Given the description of an element on the screen output the (x, y) to click on. 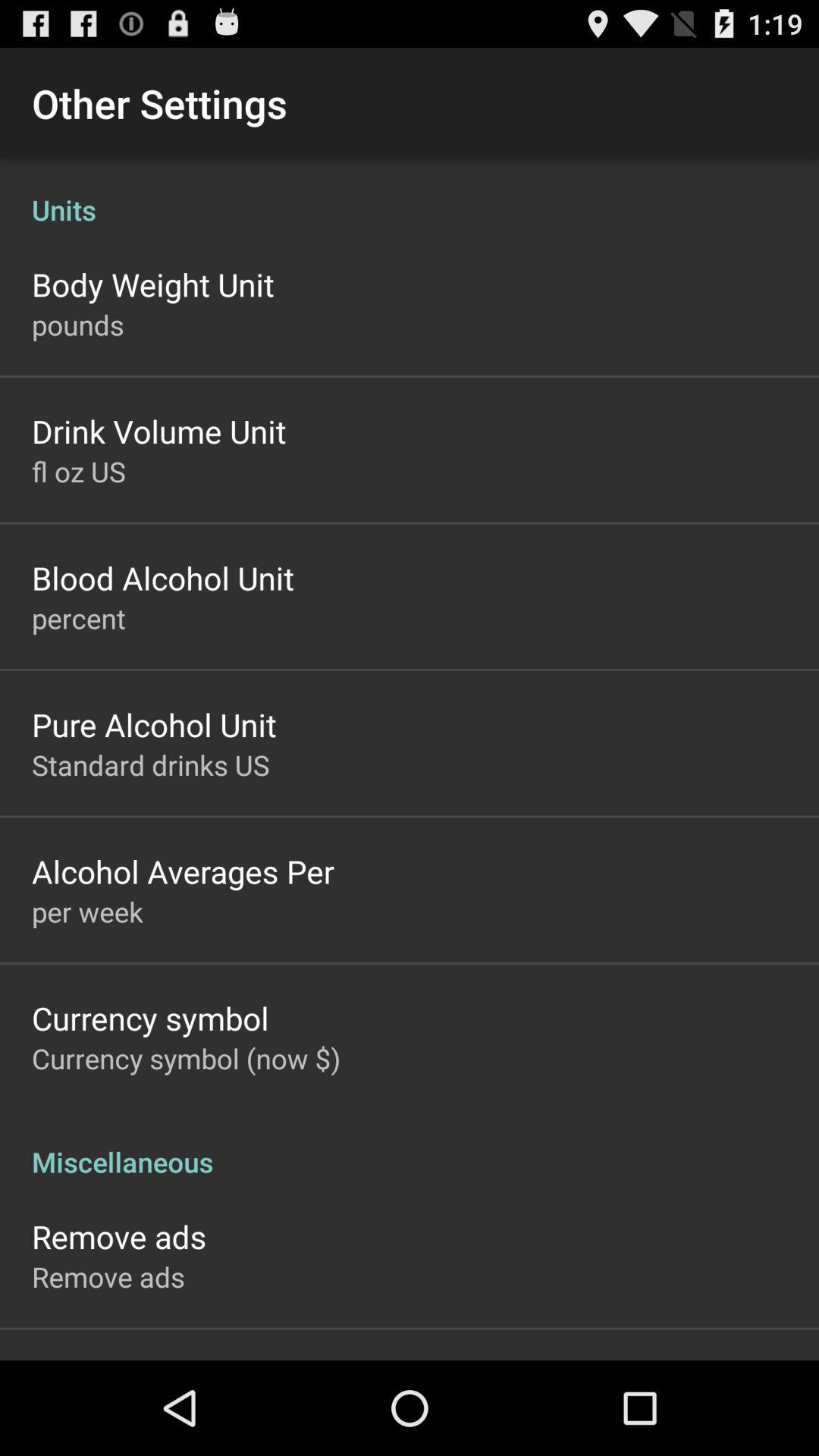
choose the icon above the pounds app (152, 283)
